Given the description of an element on the screen output the (x, y) to click on. 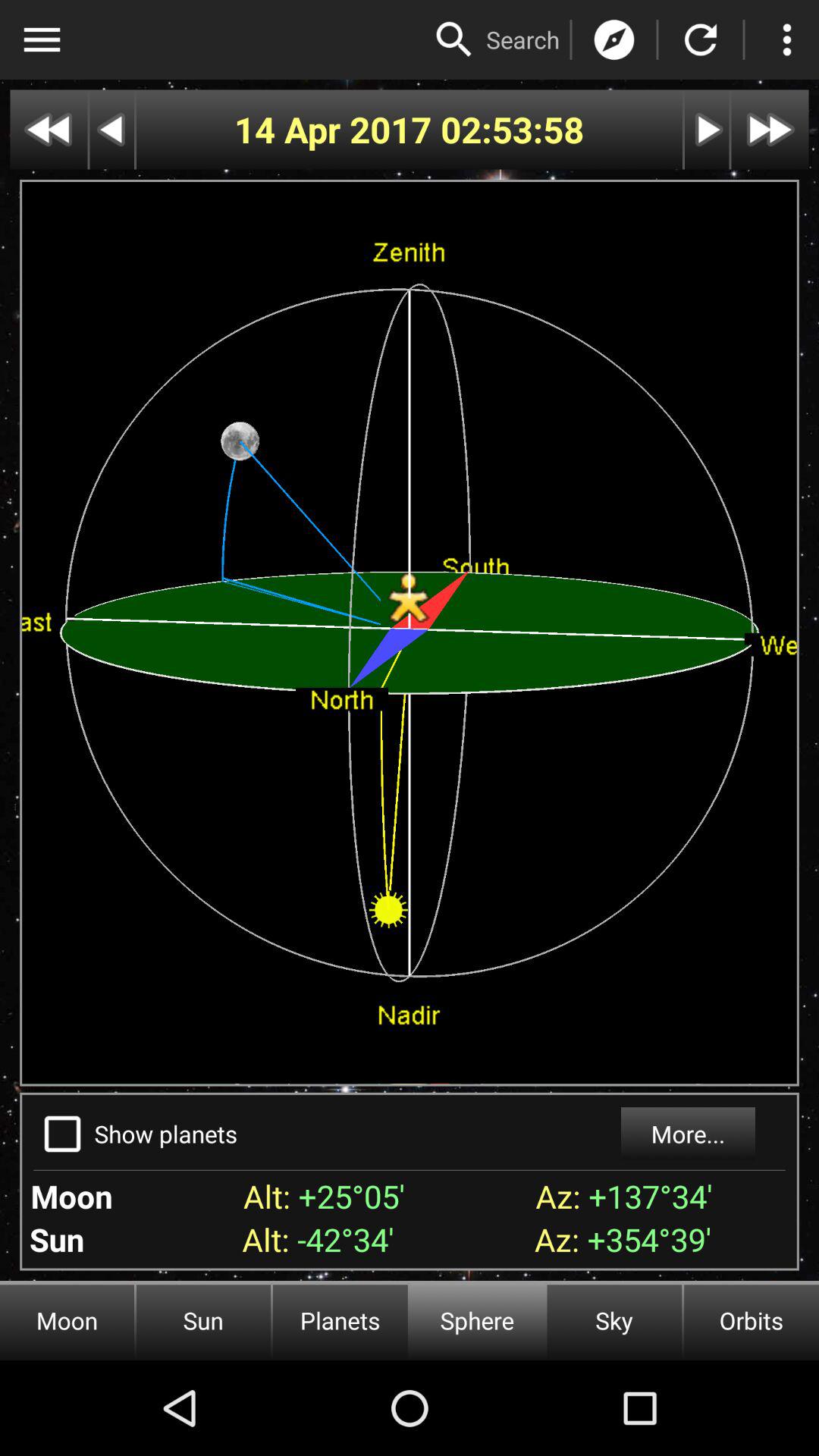
go to next (706, 129)
